Given the description of an element on the screen output the (x, y) to click on. 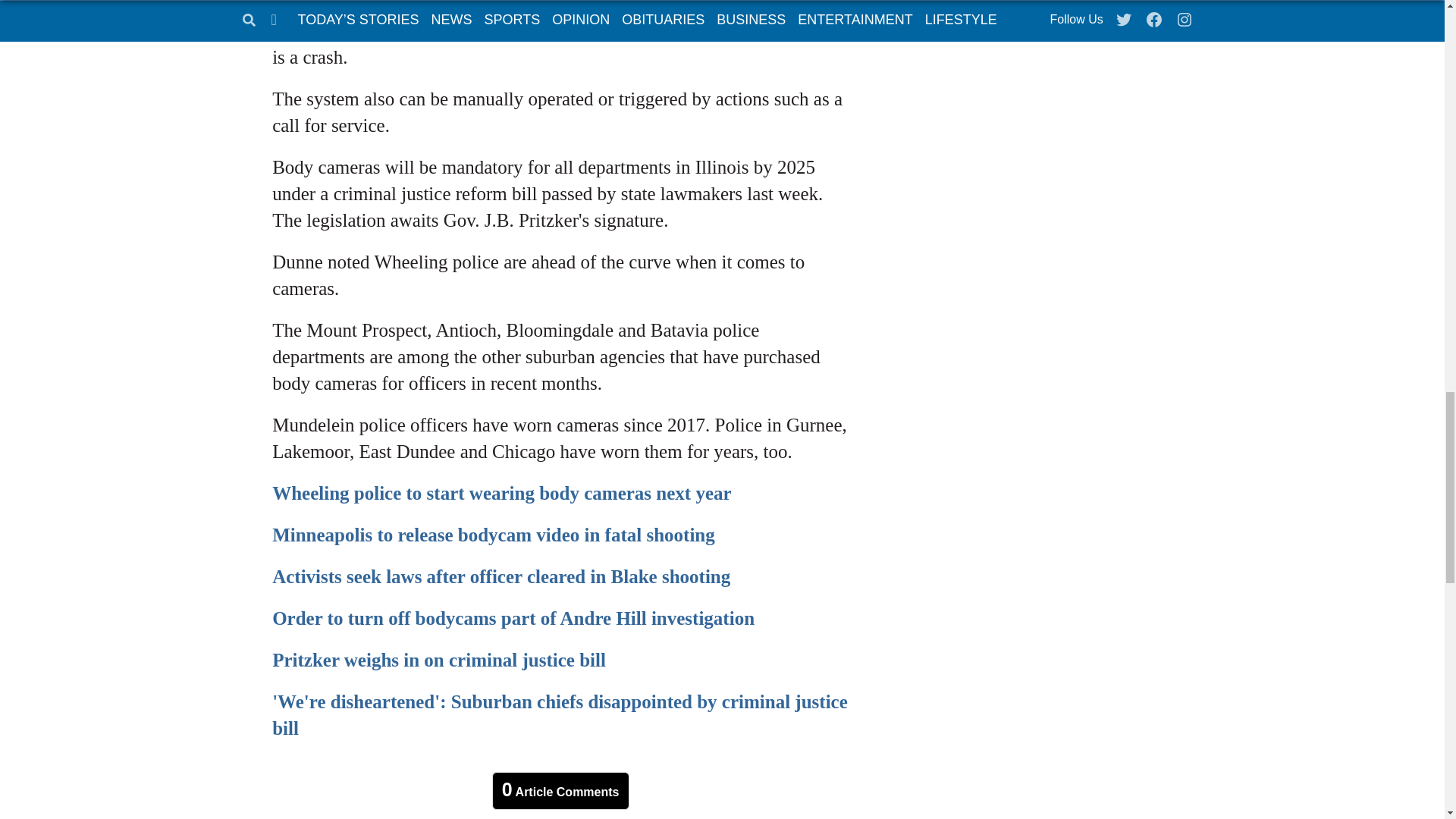
Activists seek laws after officer cleared in Blake shooting (501, 576)
Wheeling police to start wearing body cameras next year (501, 493)
Order to turn off bodycams part of Andre Hill investigation (513, 618)
Pritzker weighs in on criminal justice bill (438, 660)
Minneapolis to release bodycam video in fatal shooting (493, 534)
